Given the description of an element on the screen output the (x, y) to click on. 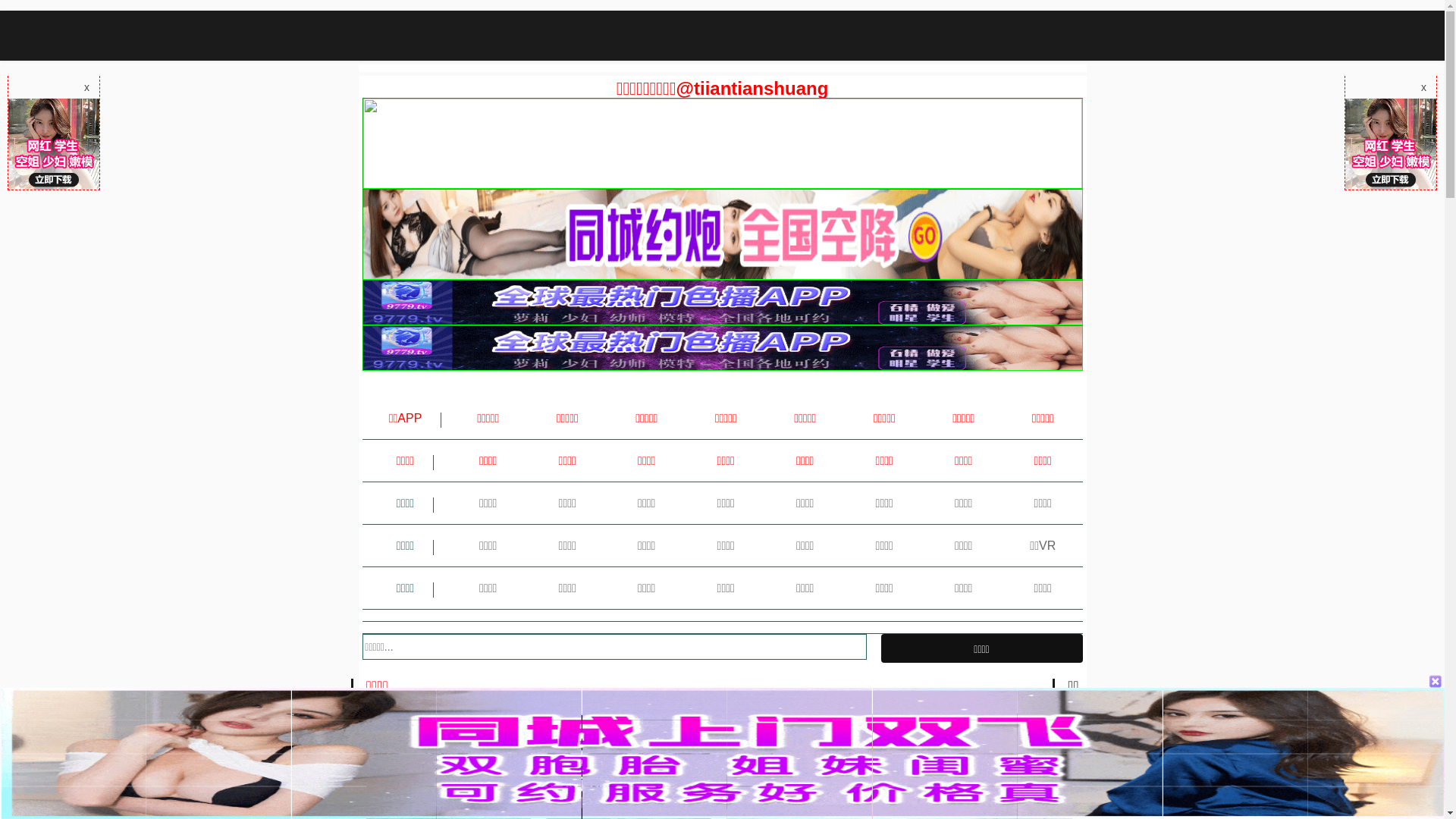
x Element type: text (86, 86)
x Element type: text (1423, 86)
